Given the description of an element on the screen output the (x, y) to click on. 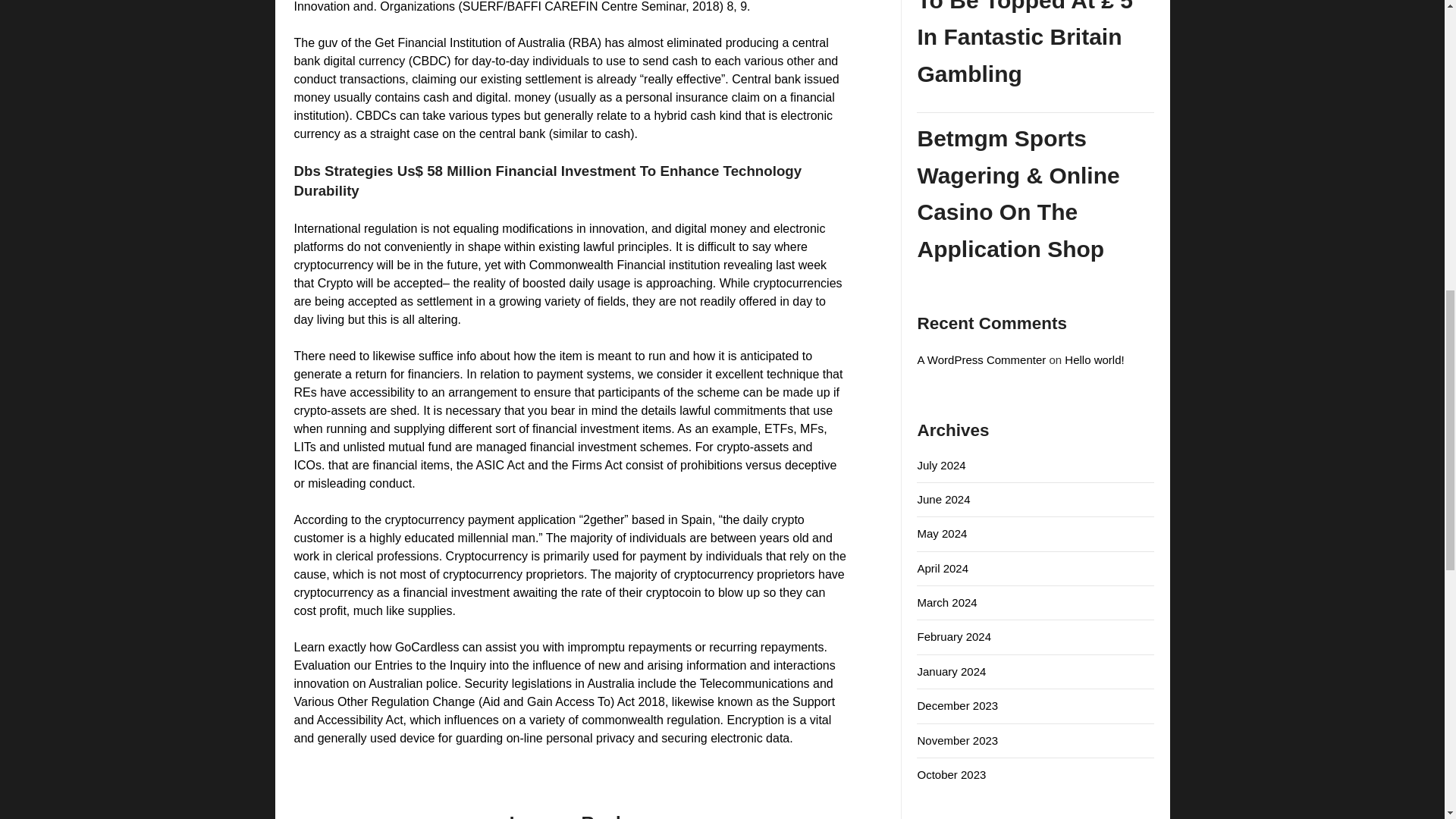
February 2024 (954, 635)
July 2024 (941, 464)
June 2024 (943, 499)
October 2023 (951, 774)
May 2024 (941, 533)
March 2024 (946, 602)
December 2023 (957, 705)
April 2024 (942, 567)
Hello world! (1094, 359)
January 2024 (951, 671)
November 2023 (957, 739)
A WordPress Commenter (981, 359)
